Given the description of an element on the screen output the (x, y) to click on. 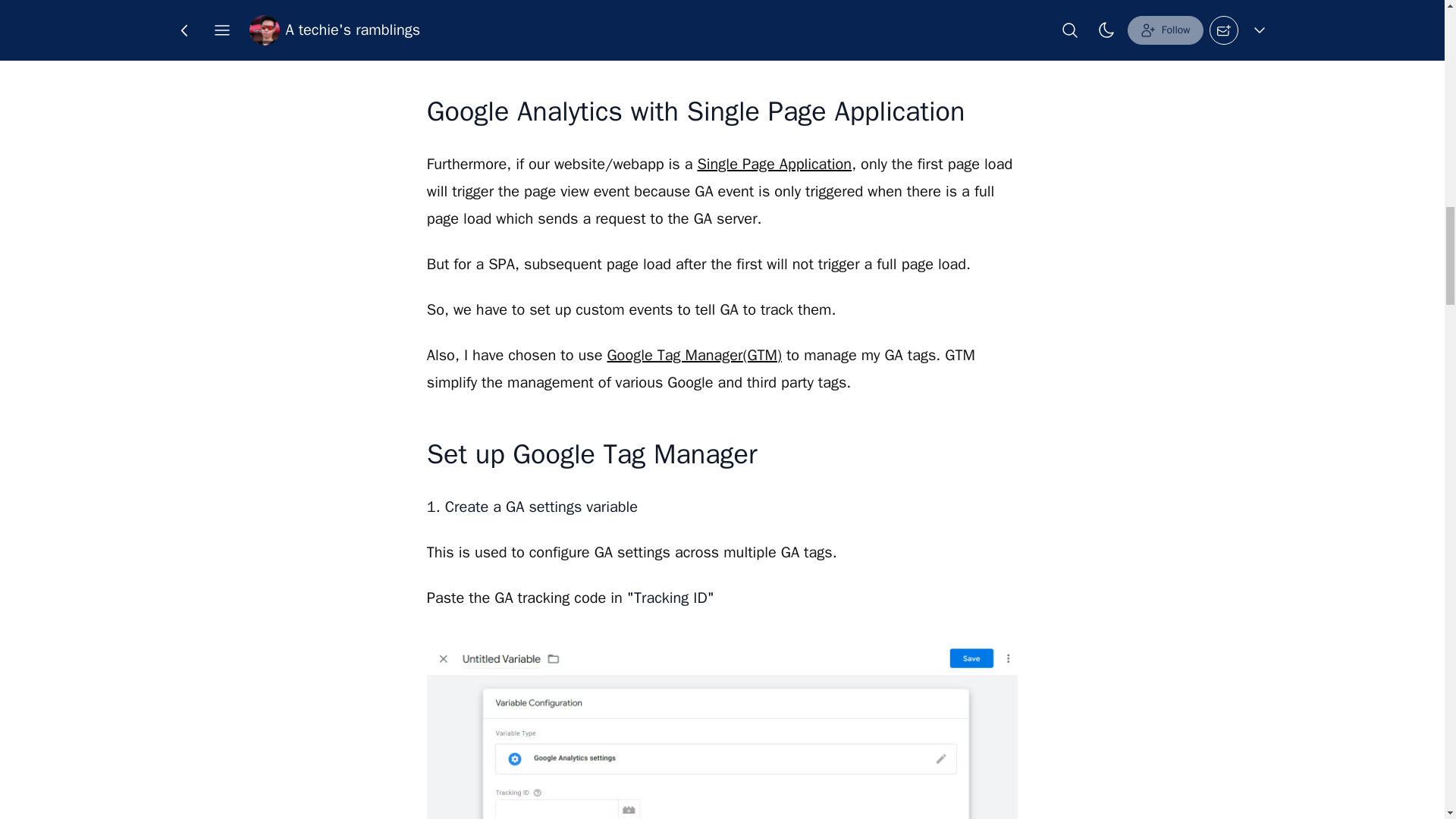
Single Page Application (774, 163)
